Given the description of an element on the screen output the (x, y) to click on. 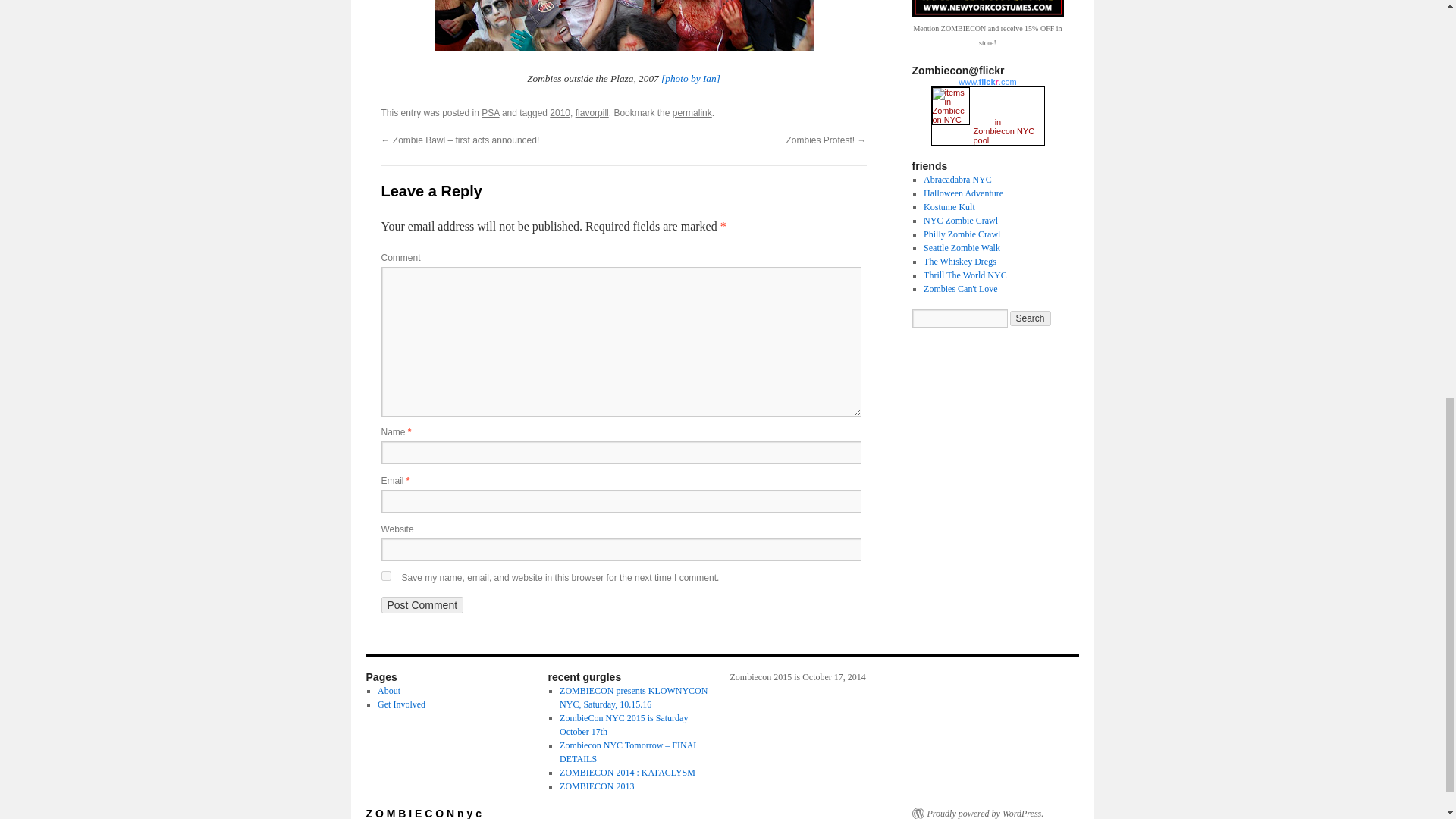
Post Comment (421, 605)
Halloween Adventure (963, 193)
in Zombiecon NYC pool (1004, 130)
permalink (691, 112)
The Whiskey Dregs (959, 261)
NYC Zombie Crawl (960, 220)
Post Comment (421, 605)
flavorpill (591, 112)
www.flickr.com (988, 81)
Kostume Kult (949, 206)
Great costume and makeup destination in Manhattan! (957, 179)
PSA (490, 112)
absurd events all year long (949, 206)
Search (1030, 318)
Zombies outside the plaza, 2007 (622, 25)
